Given the description of an element on the screen output the (x, y) to click on. 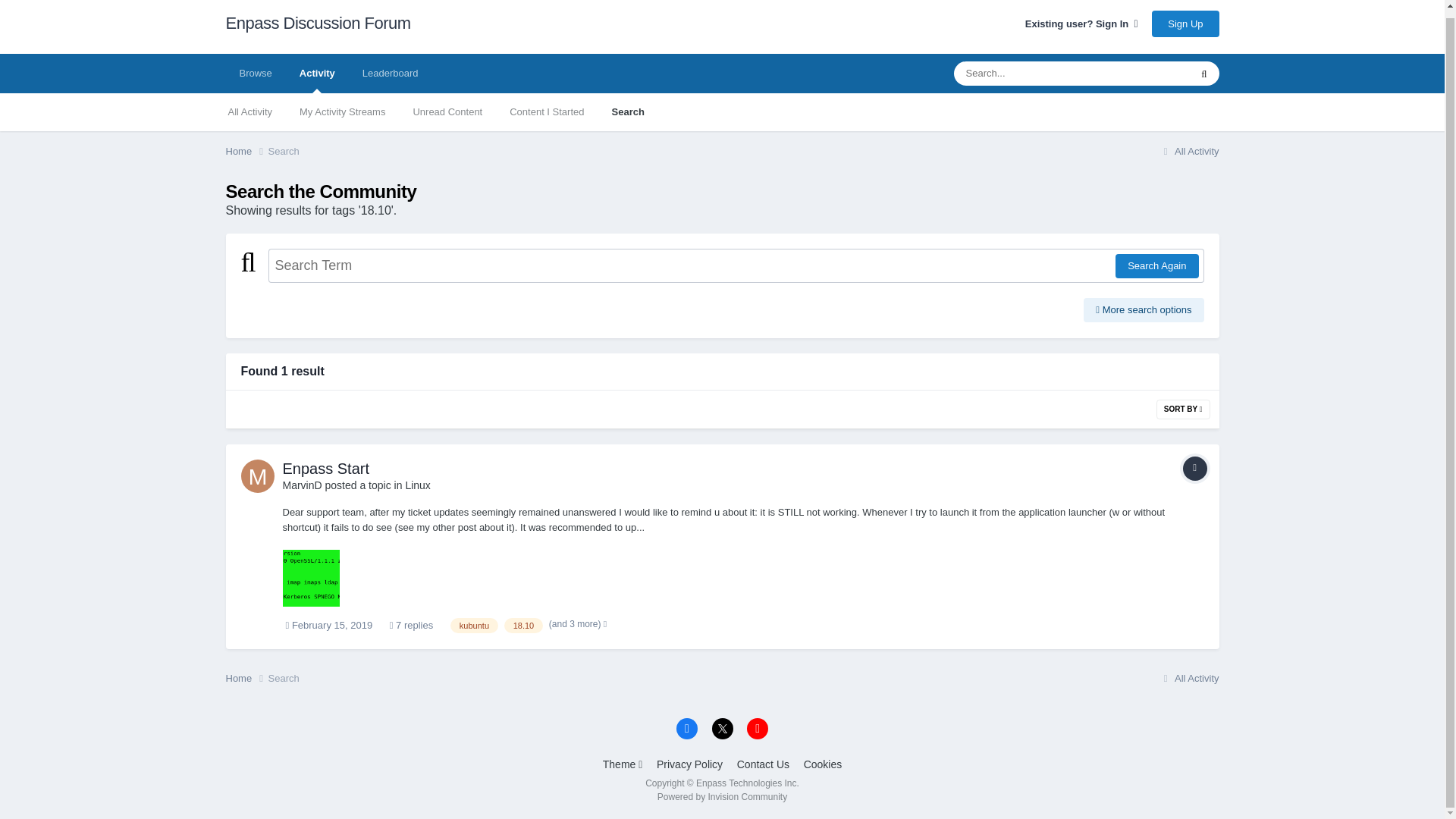
All Activity (249, 112)
Enpass Discussion Forum (317, 27)
More search options (1143, 310)
Find other content tagged with 'kubuntu' (473, 625)
Go to MarvinD's profile (301, 485)
Search Again (1156, 265)
Invision Community (722, 796)
Find other content tagged with '18.10' (523, 625)
Leaderboard (390, 73)
Existing user? Sign In   (1081, 23)
